Given the description of an element on the screen output the (x, y) to click on. 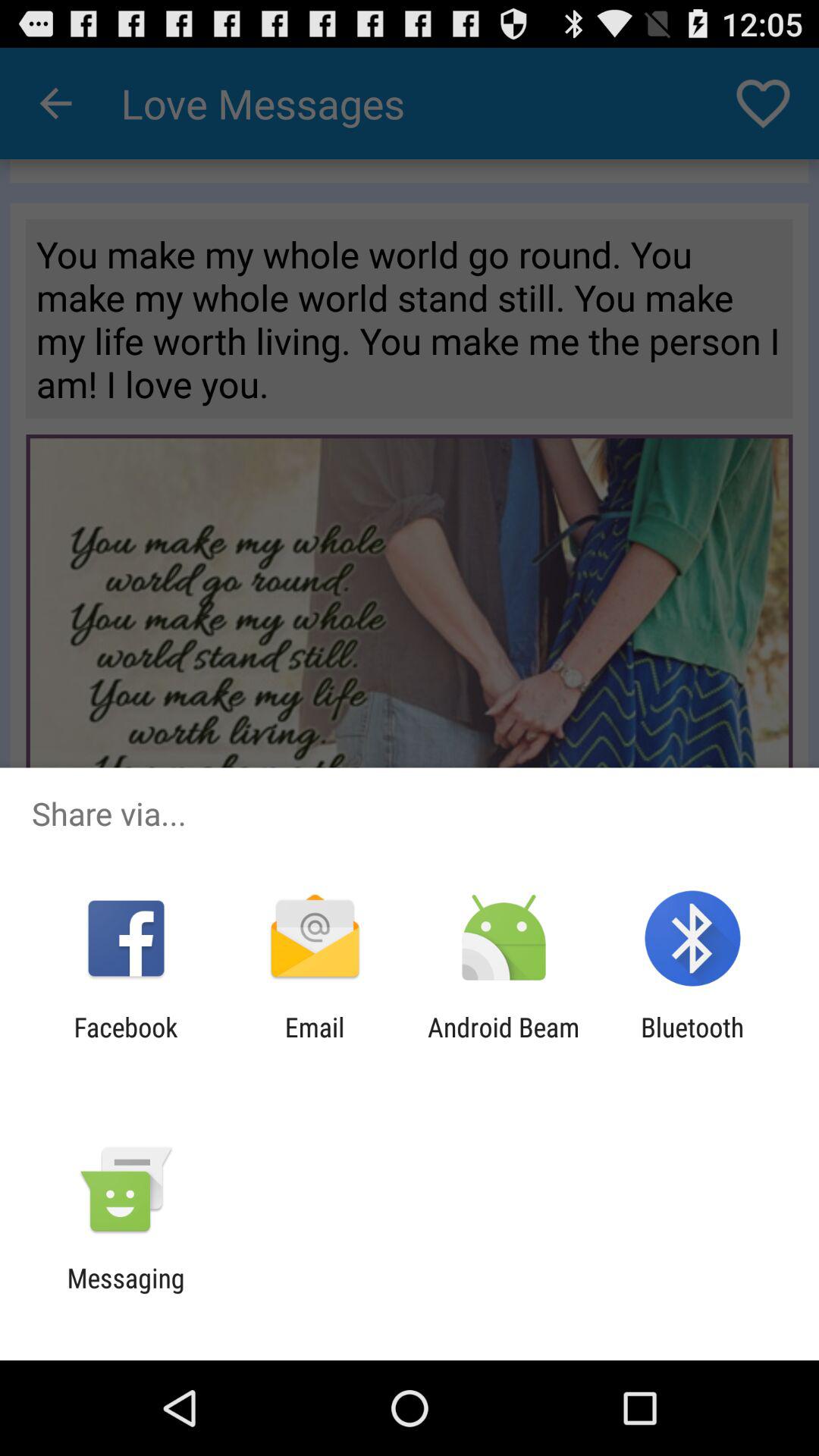
click the item next to the android beam item (314, 1042)
